Given the description of an element on the screen output the (x, y) to click on. 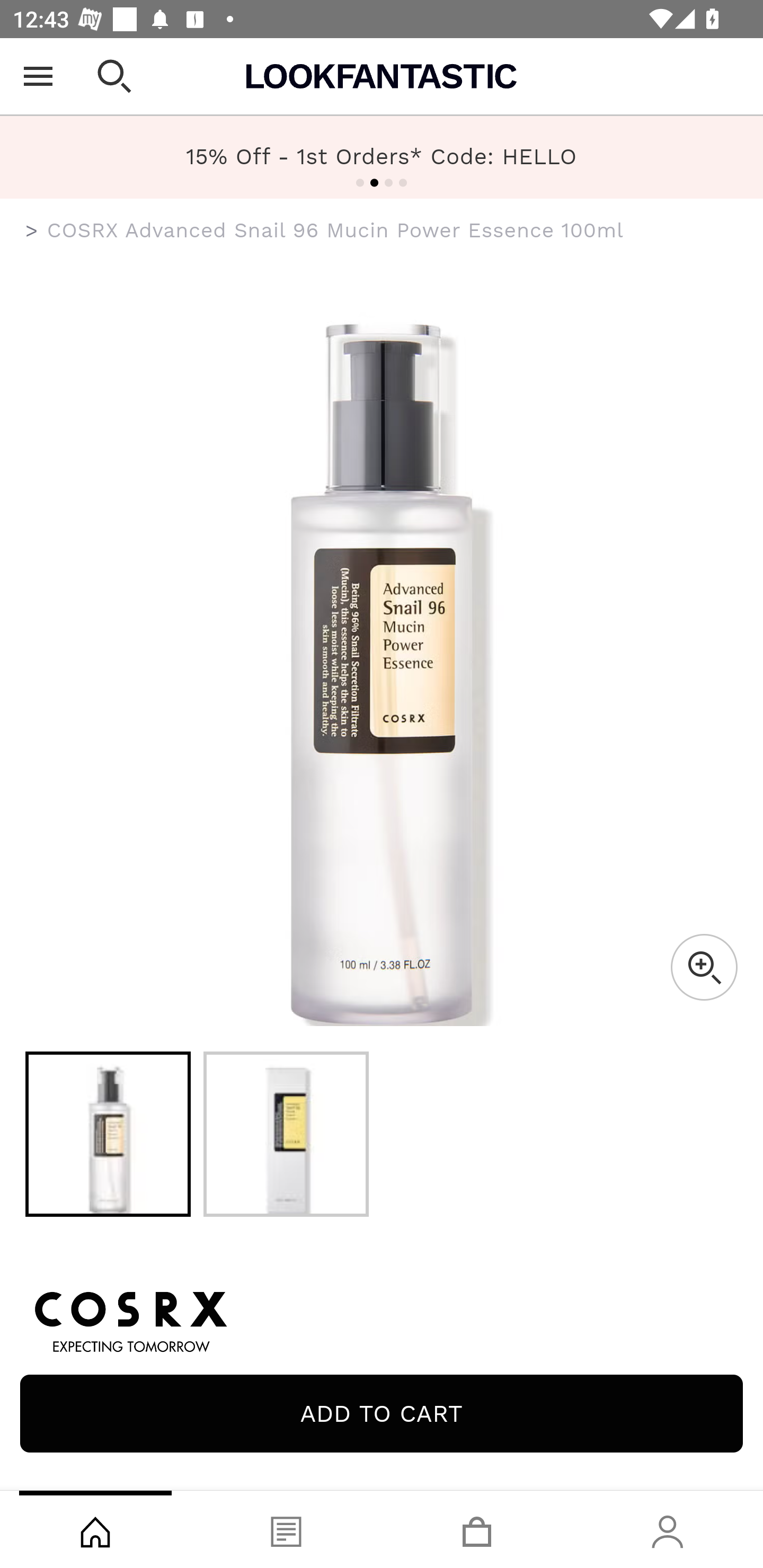
Open Menu (38, 75)
Open search (114, 75)
Lookfantastic USA (381, 75)
us.lookfantastic (32, 230)
Zoom (703, 966)
COSRX (381, 1319)
Add to cart (381, 1413)
Shop, tab, 1 of 4 (95, 1529)
Blog, tab, 2 of 4 (285, 1529)
Basket, tab, 3 of 4 (476, 1529)
Account, tab, 4 of 4 (667, 1529)
